Given the description of an element on the screen output the (x, y) to click on. 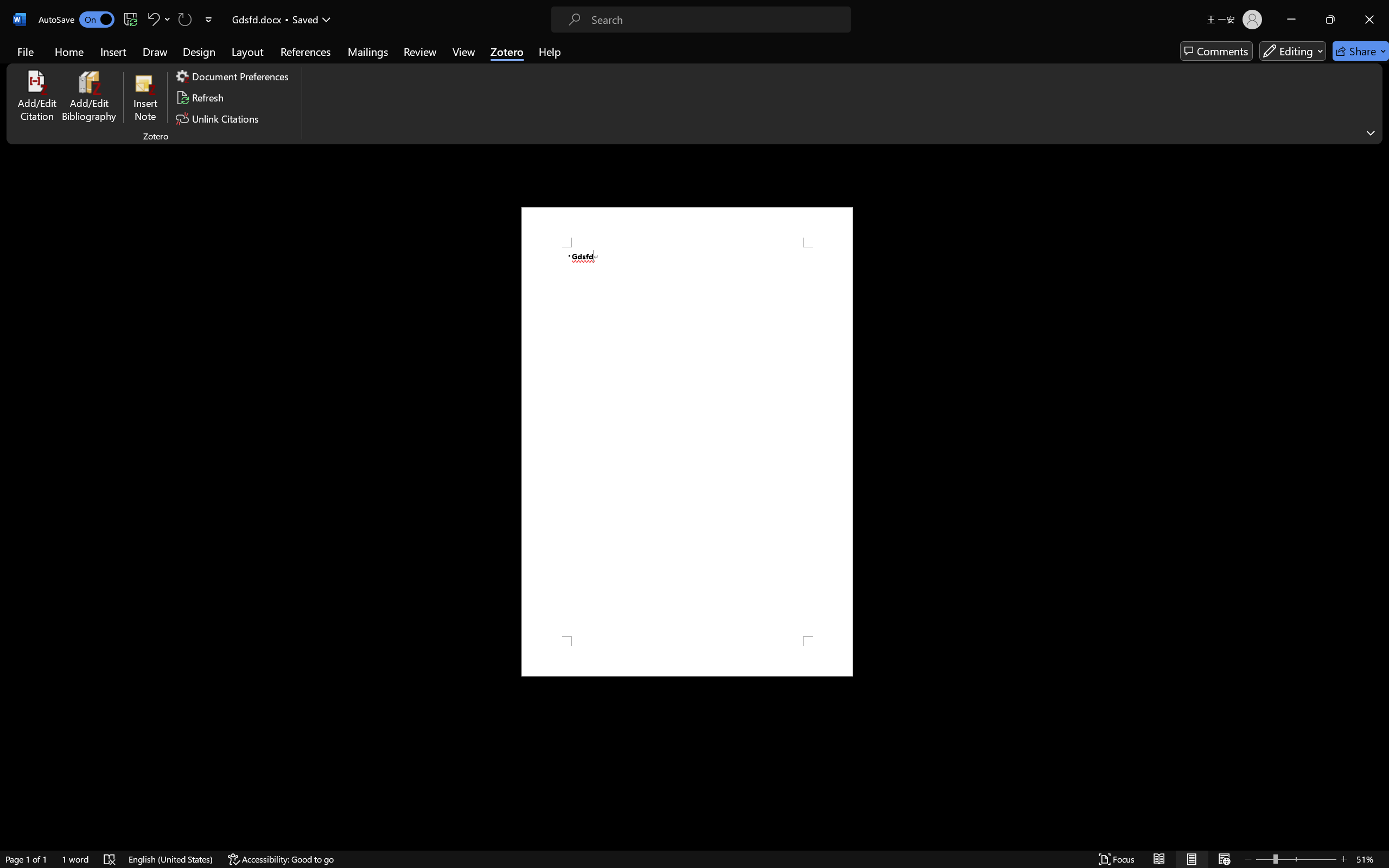
Font... (319, 91)
Convert to SmartArt (462, 77)
Rectangle: Rounded Corners (518, 60)
Shape Fill Dark Green, Accent 2 (644, 46)
Connector: Elbow (539, 60)
Section (137, 77)
Shadow (212, 71)
Arrange (600, 62)
